Given the description of an element on the screen output the (x, y) to click on. 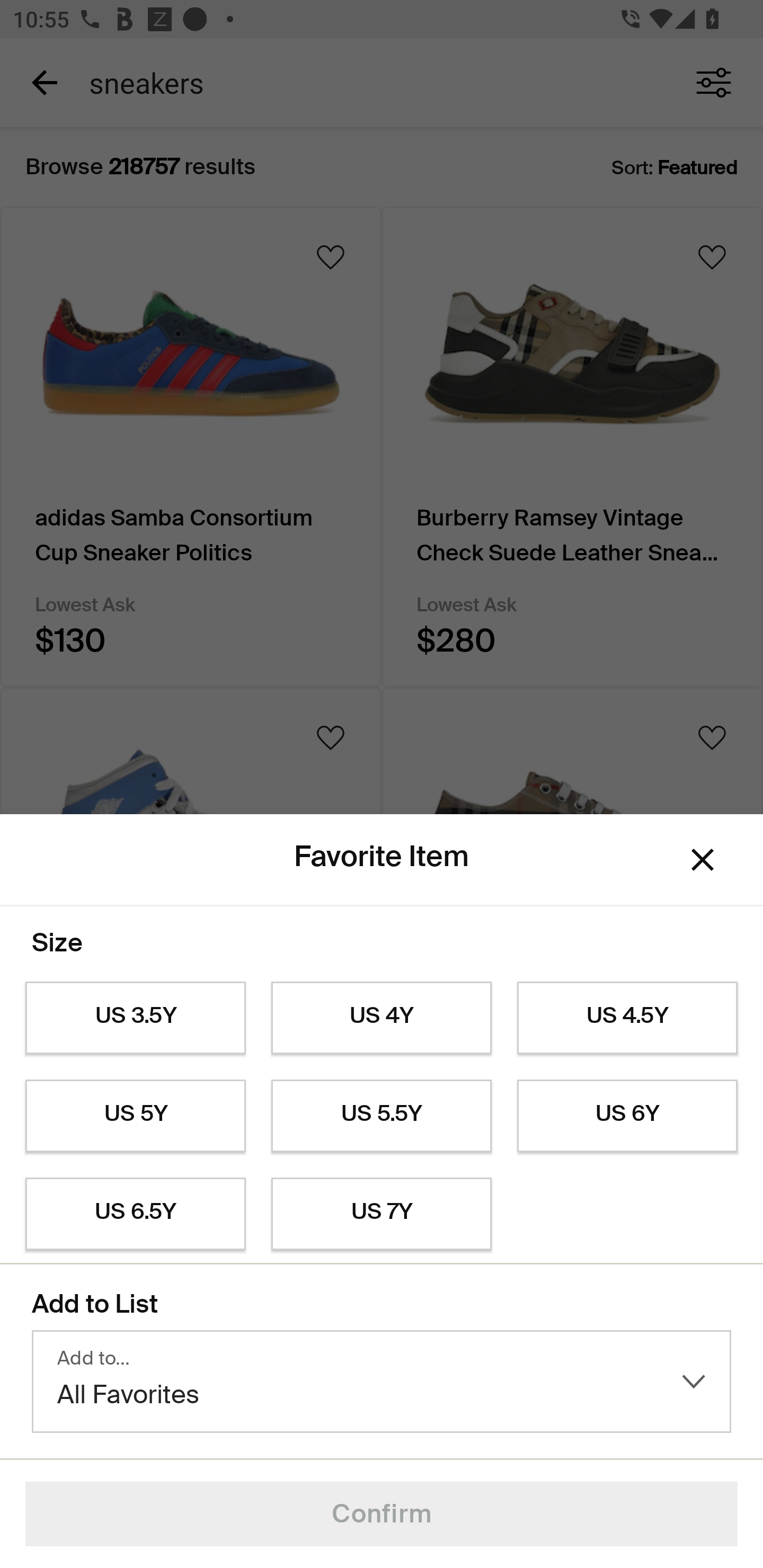
Dismiss (702, 859)
US 3.5Y (135, 1018)
US 4Y (381, 1018)
US 4.5Y (627, 1018)
US 5Y (135, 1116)
US 5.5Y (381, 1116)
US 6Y (627, 1116)
US 6.5Y (135, 1214)
US 7Y (381, 1214)
Add to… All Favorites (381, 1381)
Confirm (381, 1513)
